Given the description of an element on the screen output the (x, y) to click on. 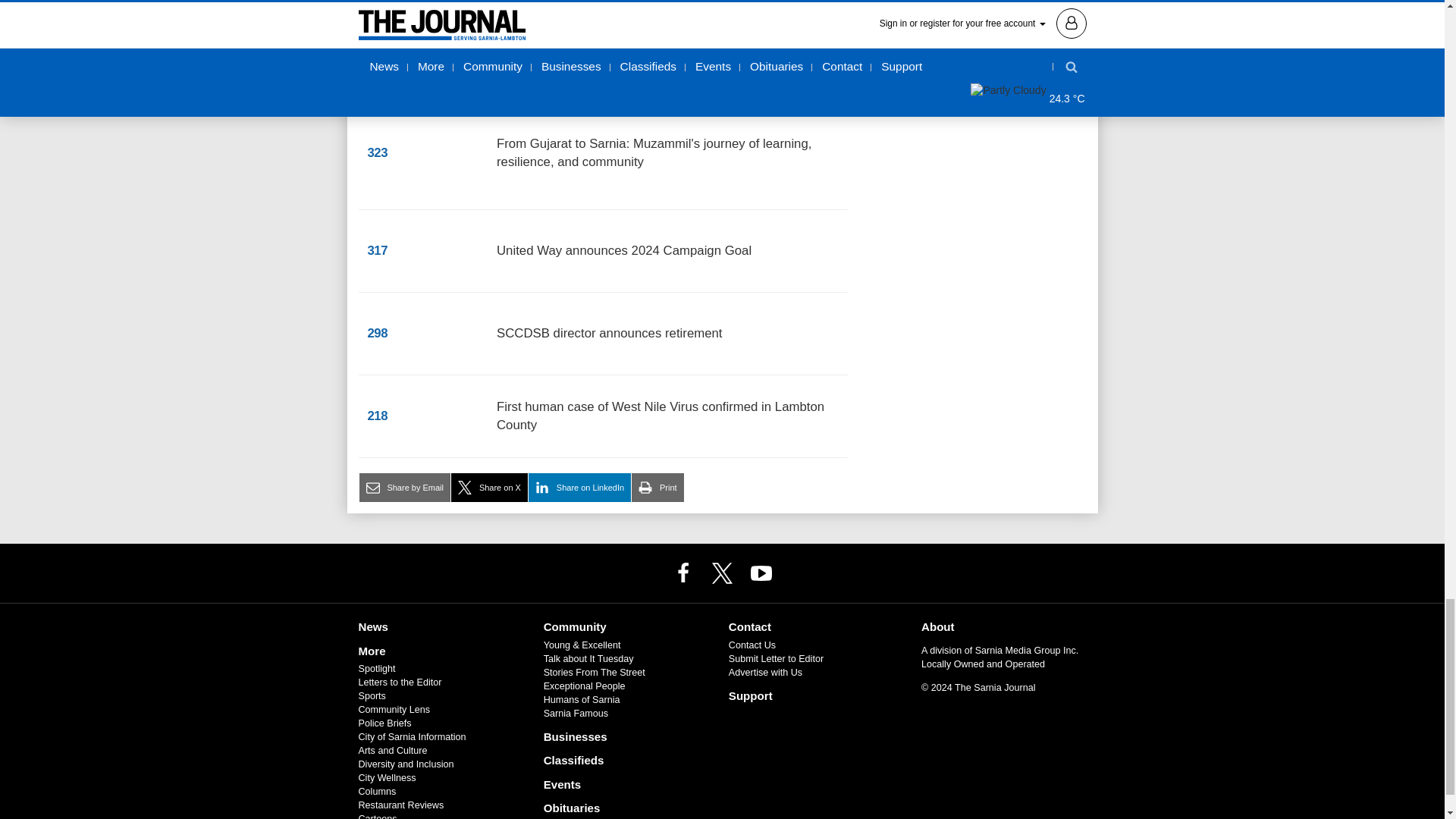
X (721, 572)
Facebook (683, 572)
YouTube (760, 572)
